Given the description of an element on the screen output the (x, y) to click on. 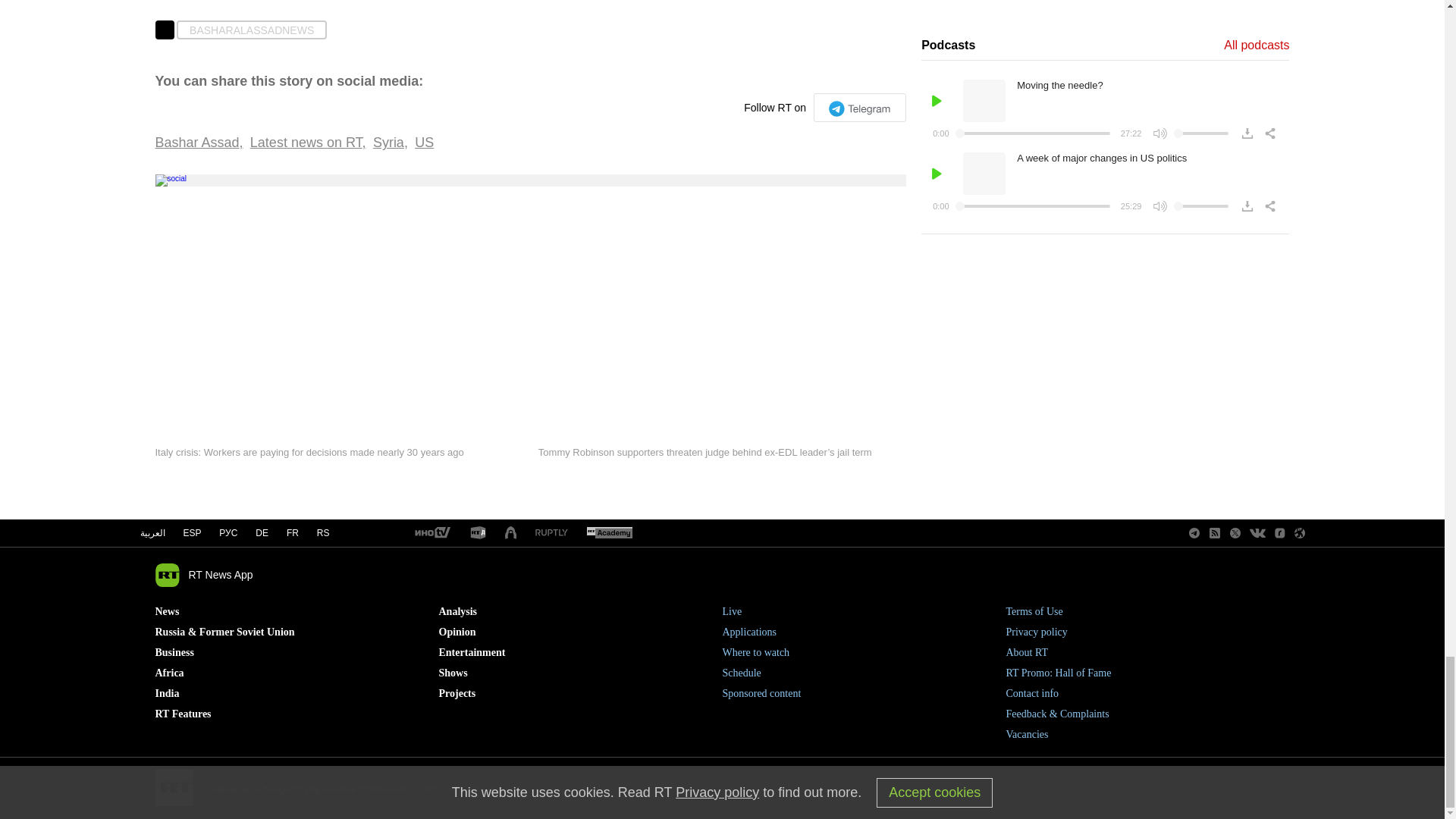
RT  (431, 533)
RT  (608, 533)
RT  (478, 533)
RT  (551, 533)
